Given the description of an element on the screen output the (x, y) to click on. 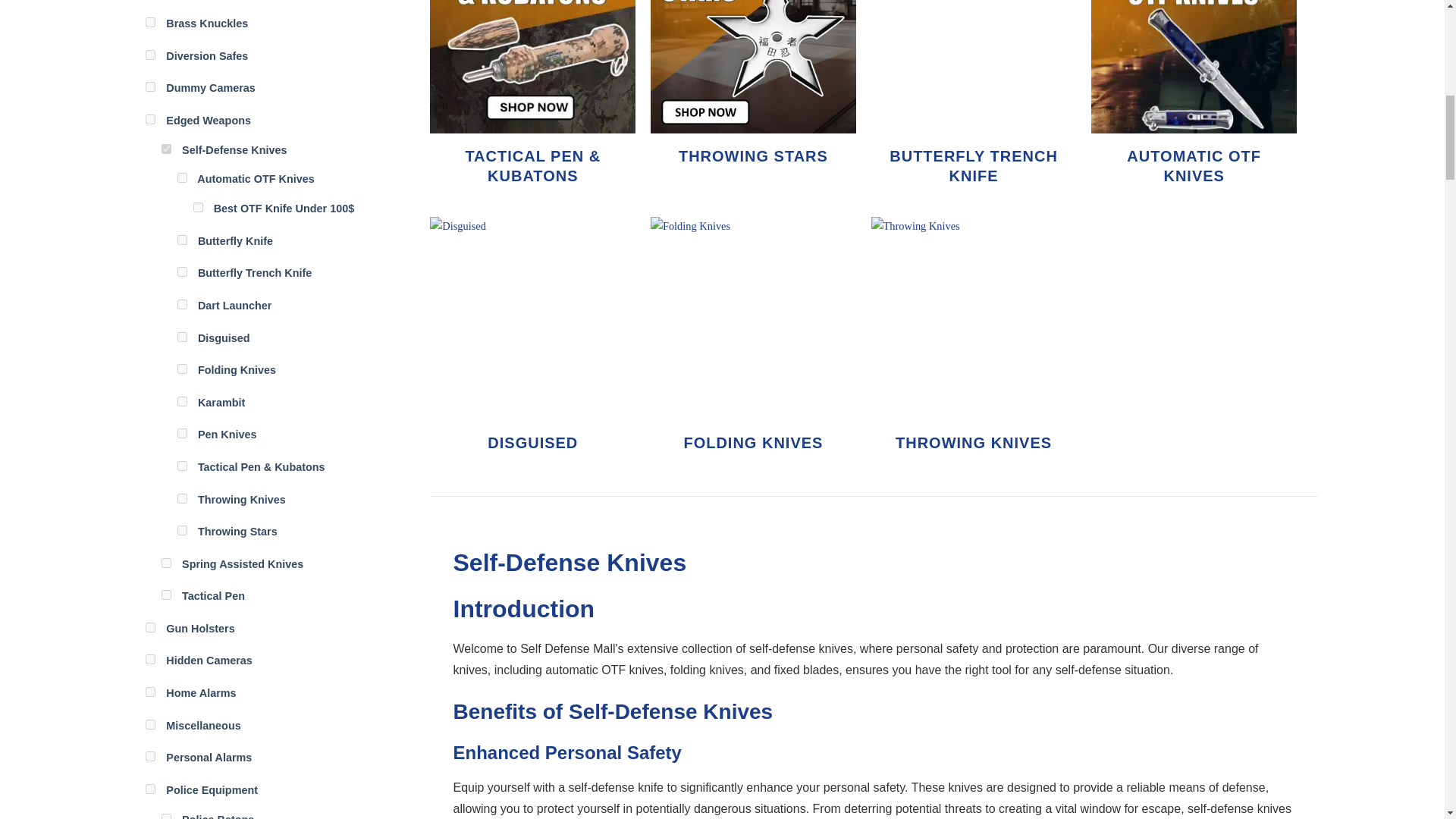
butterfly (182, 271)
Automatic OTF Knives (255, 178)
Dummy Cameras (210, 87)
automatic-otf-knives (182, 177)
Folding Knives (237, 369)
Disguised (224, 337)
Edged Weapons (207, 120)
knuckles (150, 22)
Diversion Safes (206, 55)
Self-Defense Knives (234, 150)
